Given the description of an element on the screen output the (x, y) to click on. 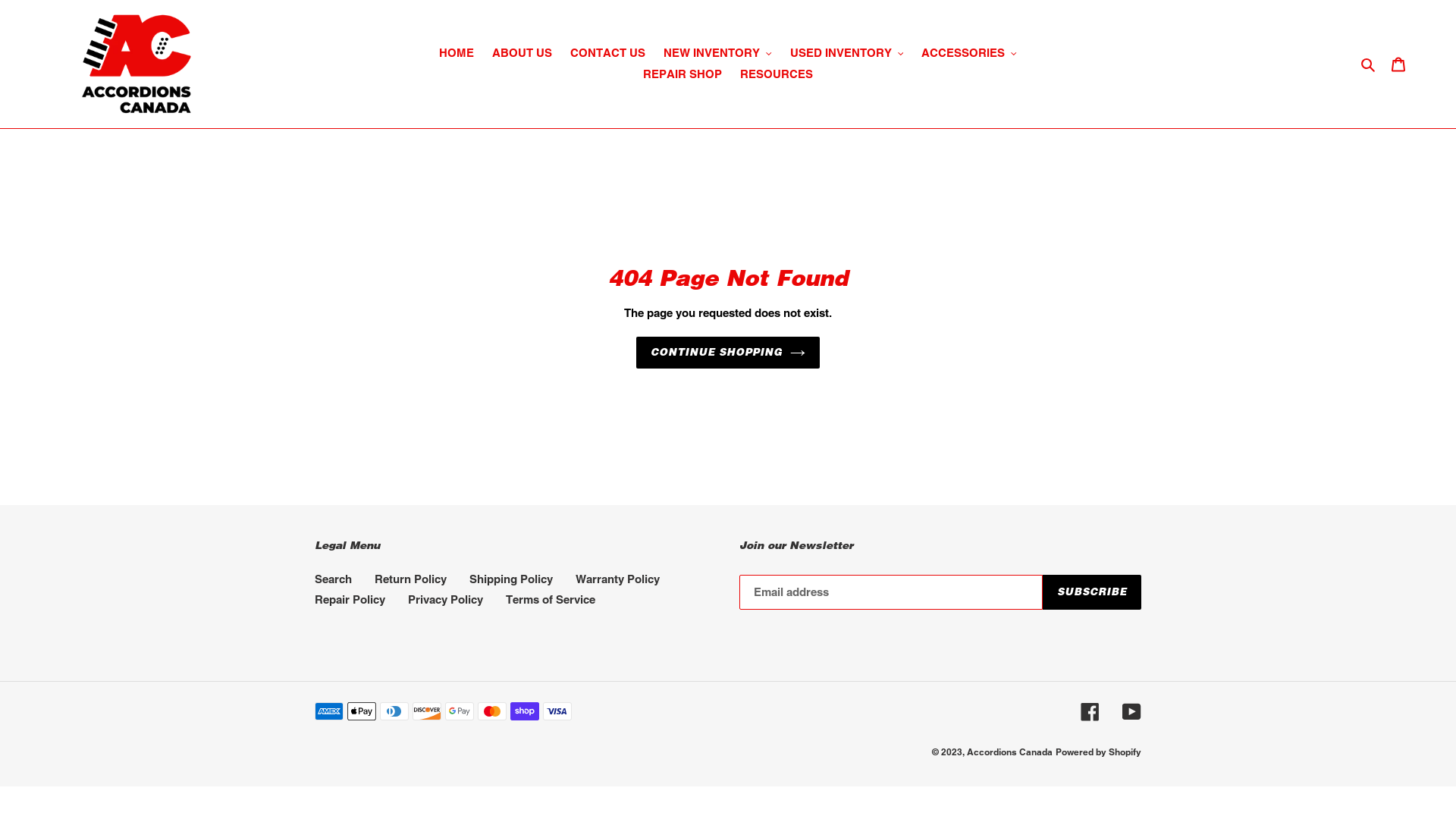
CONTACT US Element type: text (607, 53)
NEW INVENTORY Element type: text (717, 53)
Repair Policy Element type: text (349, 599)
SUBSCRIBE Element type: text (1091, 591)
Cart Element type: text (1398, 63)
HOME Element type: text (456, 53)
CONTINUE SHOPPING Element type: text (728, 352)
Privacy Policy Element type: text (445, 599)
Return Policy Element type: text (410, 577)
Terms of Service Element type: text (550, 599)
RESOURCES Element type: text (776, 74)
Warranty Policy Element type: text (617, 577)
ACCESSORIES Element type: text (968, 53)
Accordions Canada Element type: text (1009, 750)
ABOUT US Element type: text (521, 53)
Shipping Policy Element type: text (510, 577)
Search Element type: text (332, 577)
Search Element type: text (1368, 63)
REPAIR SHOP Element type: text (682, 74)
Facebook Element type: text (1089, 711)
Powered by Shopify Element type: text (1098, 750)
USED INVENTORY Element type: text (846, 53)
YouTube Element type: text (1131, 711)
